Given the description of an element on the screen output the (x, y) to click on. 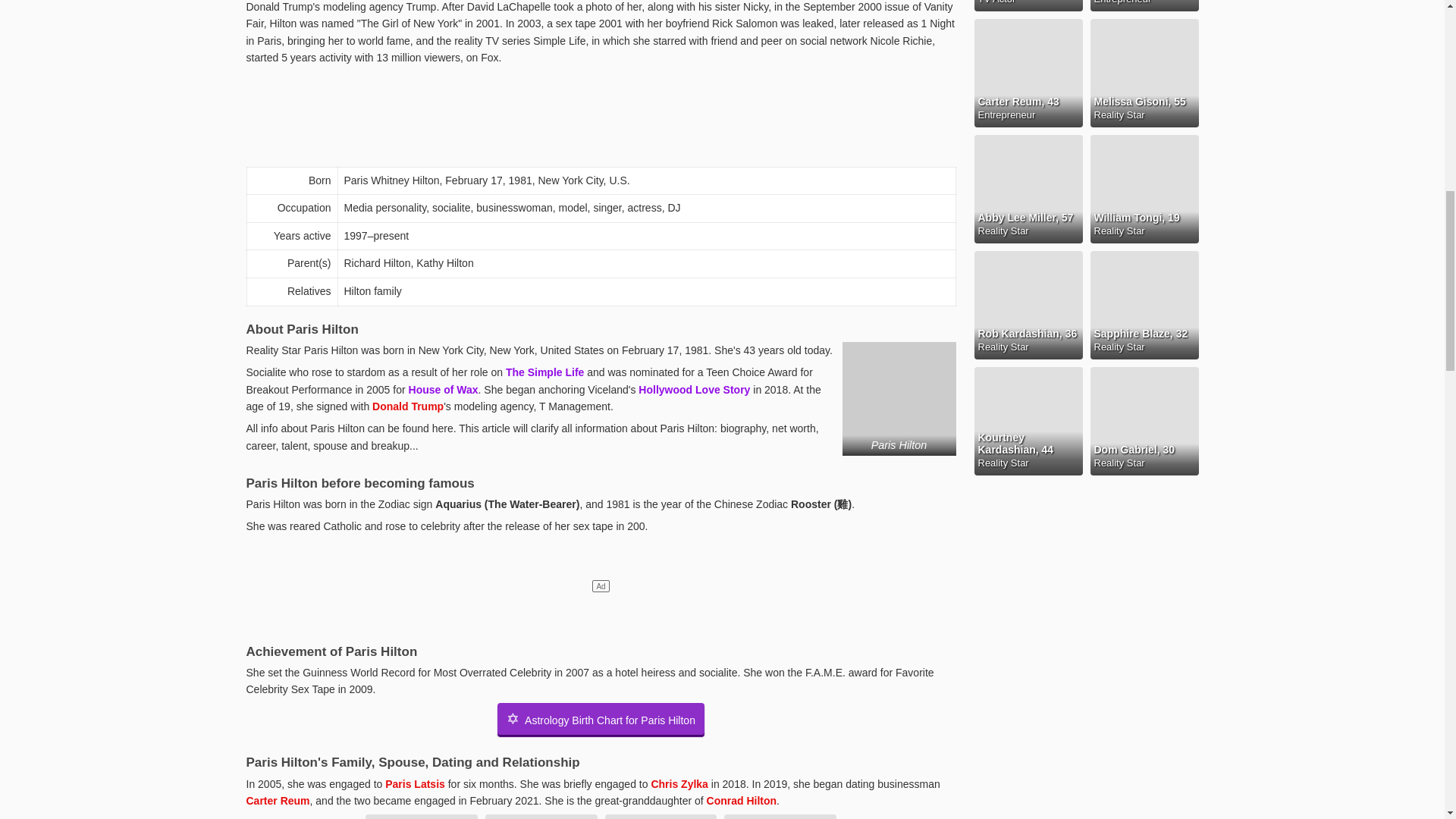
House of Wax Movie (444, 389)
The Simple Life TV-Show (544, 372)
Paris Latsis biography (415, 784)
Donald Trump wikipedia (408, 406)
Hollywood Love Story TV-Show (694, 389)
Chris Zylka wikipedia (678, 784)
Conrad Hilton wikipedia (741, 800)
Carter Reum biography (594, 806)
